Given the description of an element on the screen output the (x, y) to click on. 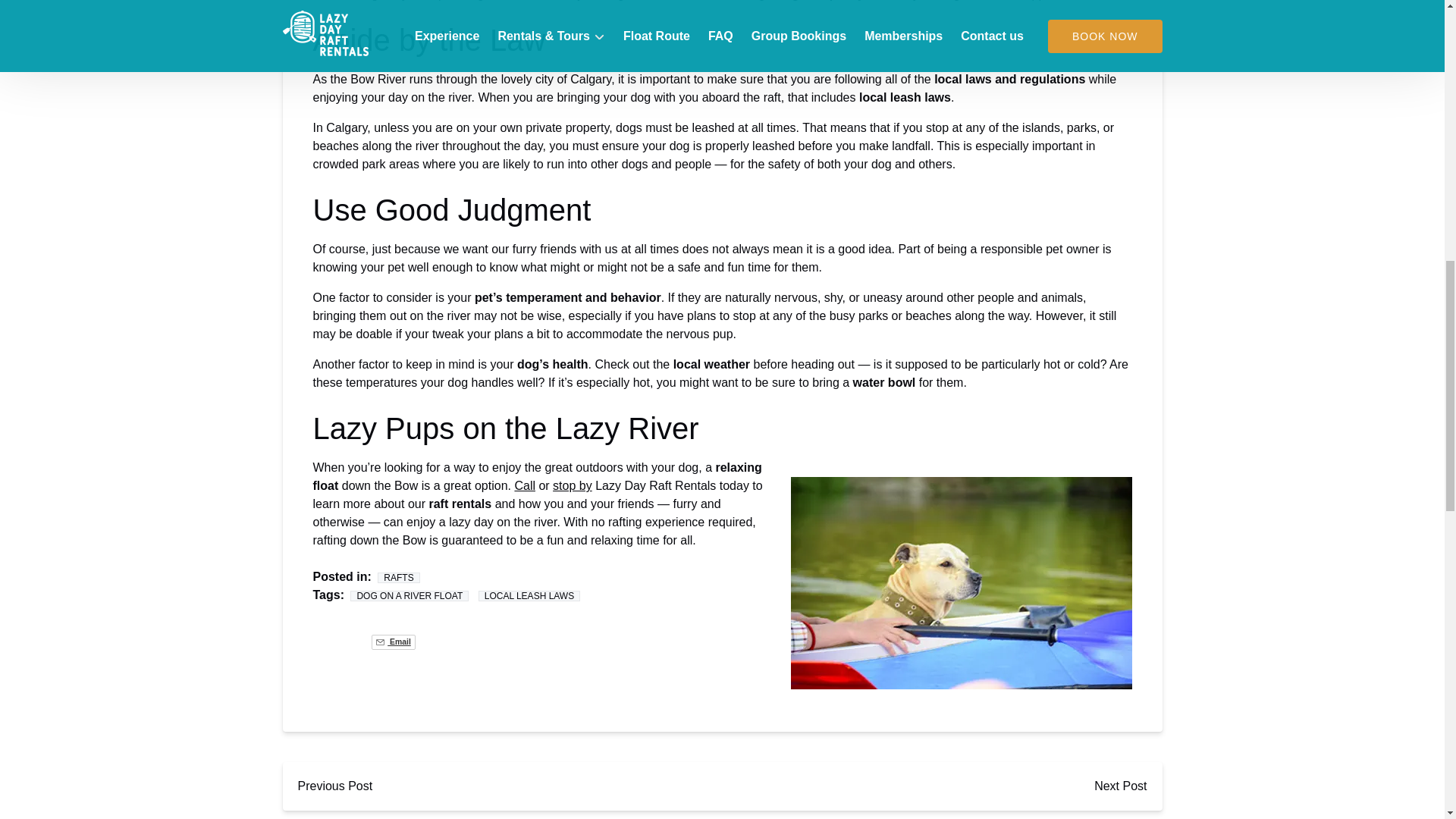
LOCAL LEASH LAWS (529, 595)
DOG ON A RIVER FLOAT (409, 595)
stop by (572, 485)
Call (524, 485)
RAFTS (398, 577)
